Given the description of an element on the screen output the (x, y) to click on. 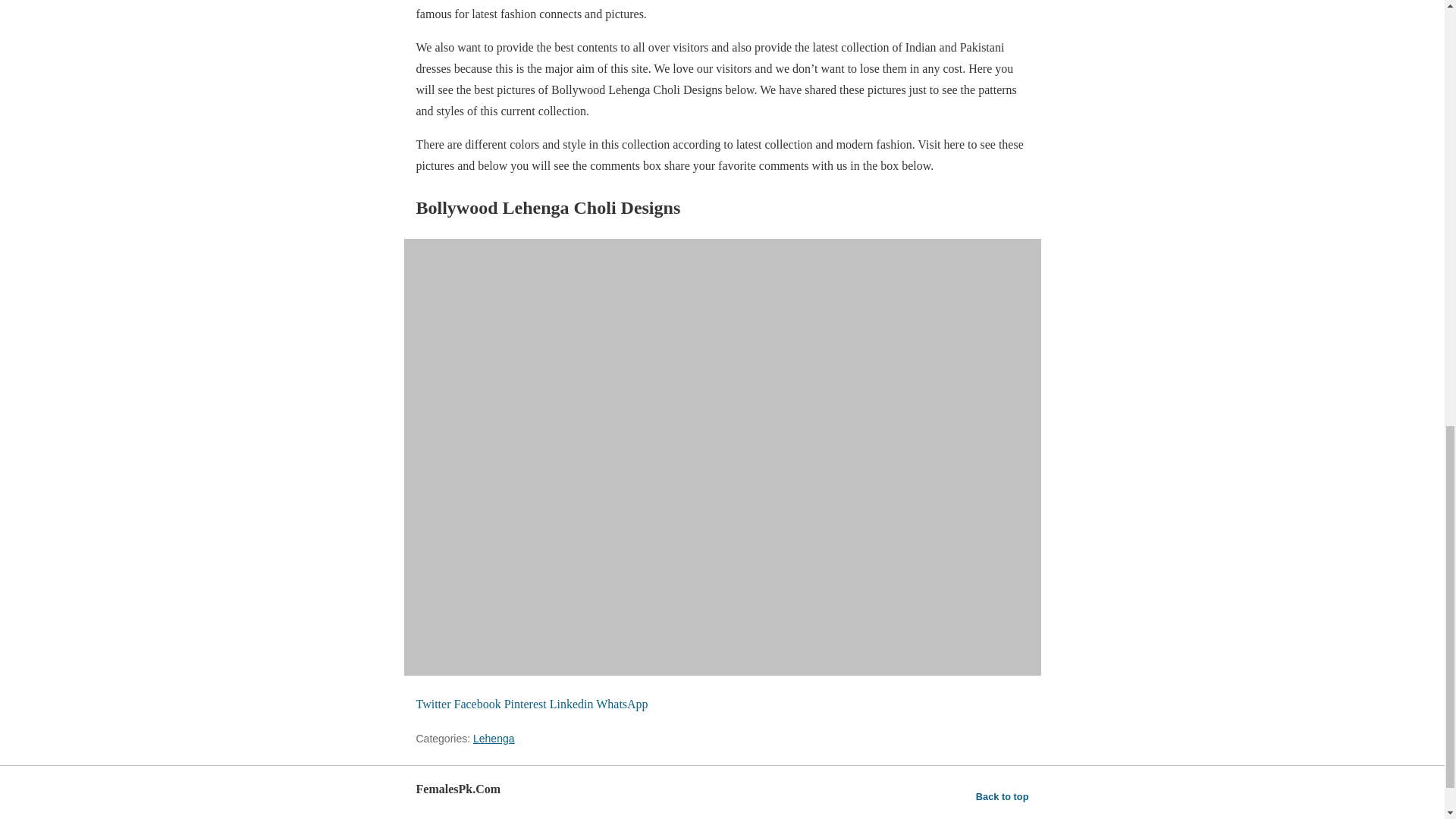
Twitter (433, 703)
Linkedin (572, 703)
Lehenga (494, 738)
Pinterest (526, 703)
Back to top (1002, 796)
Facebook (477, 703)
WhatsApp (621, 703)
